Given the description of an element on the screen output the (x, y) to click on. 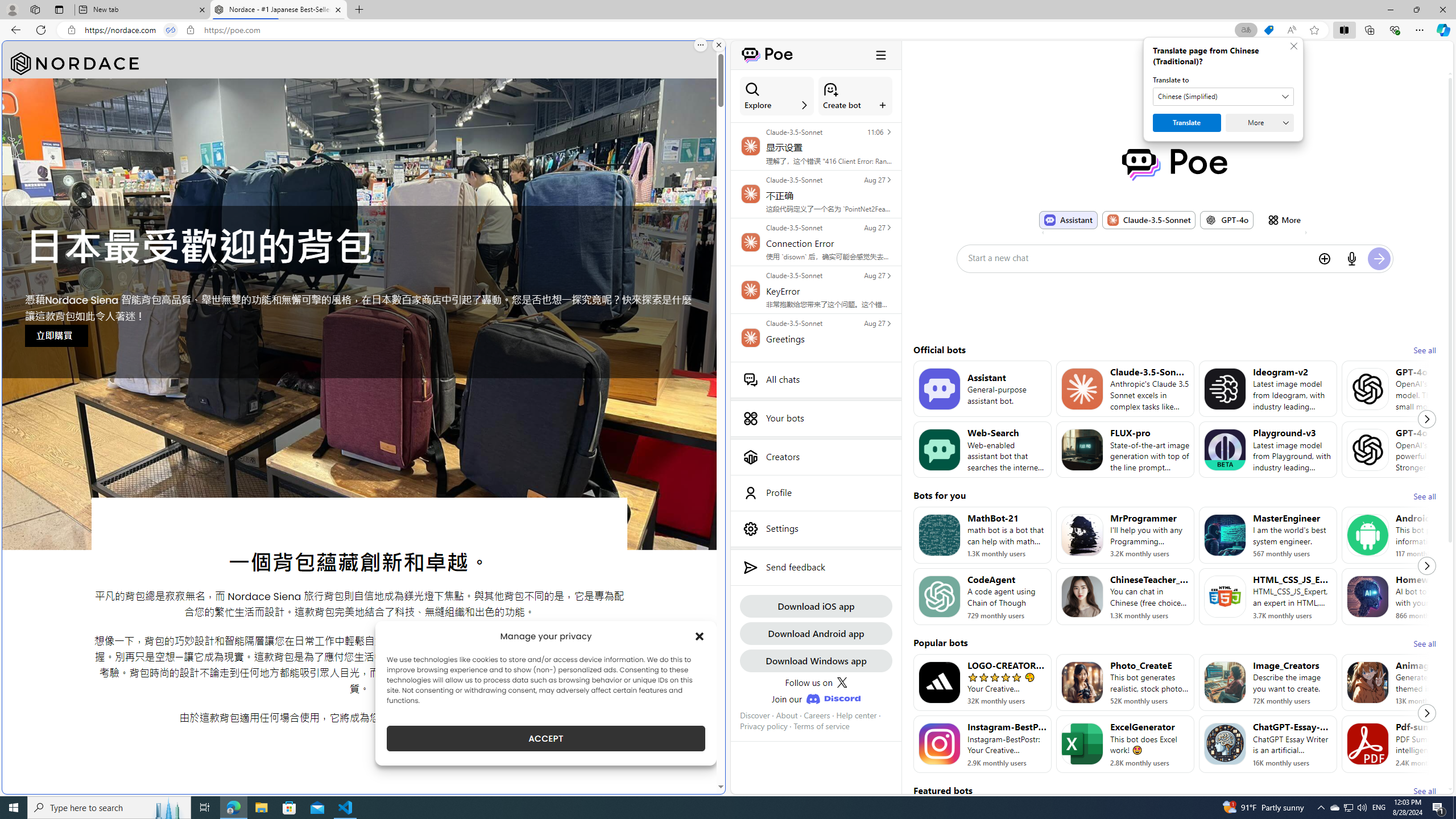
Show translate options (1245, 29)
Terms of service (821, 726)
Class: ManageBotsCardSection_createBotIcon__9JUYg (830, 89)
Bot image for Homeworkbot679 (1367, 596)
Bot image for ChatGPT-Essay-Writer (1224, 743)
